Given the description of an element on the screen output the (x, y) to click on. 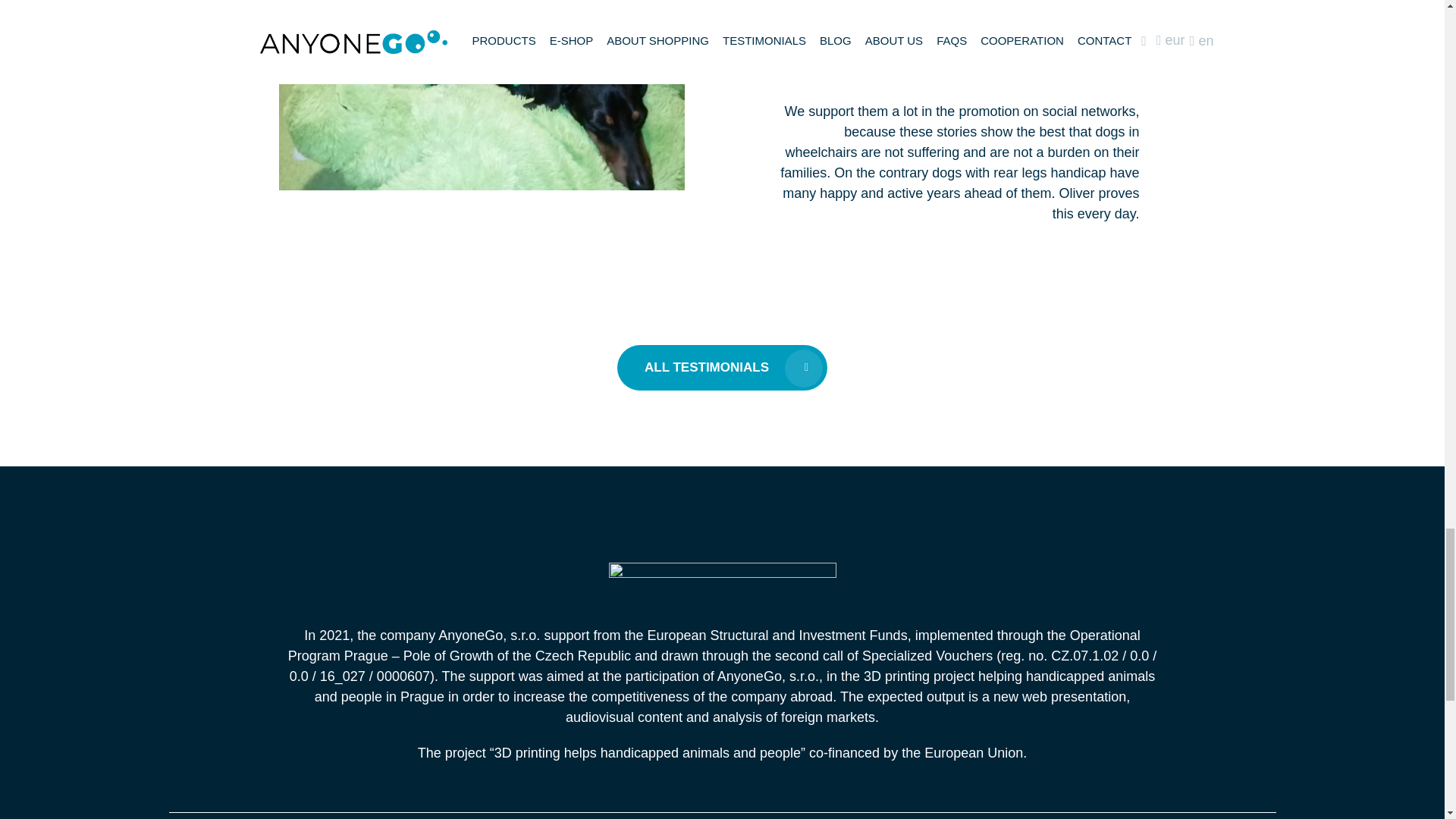
Facebook (1082, 14)
Instagram (813, 34)
ALL TESTIMONIALS (722, 367)
